Given the description of an element on the screen output the (x, y) to click on. 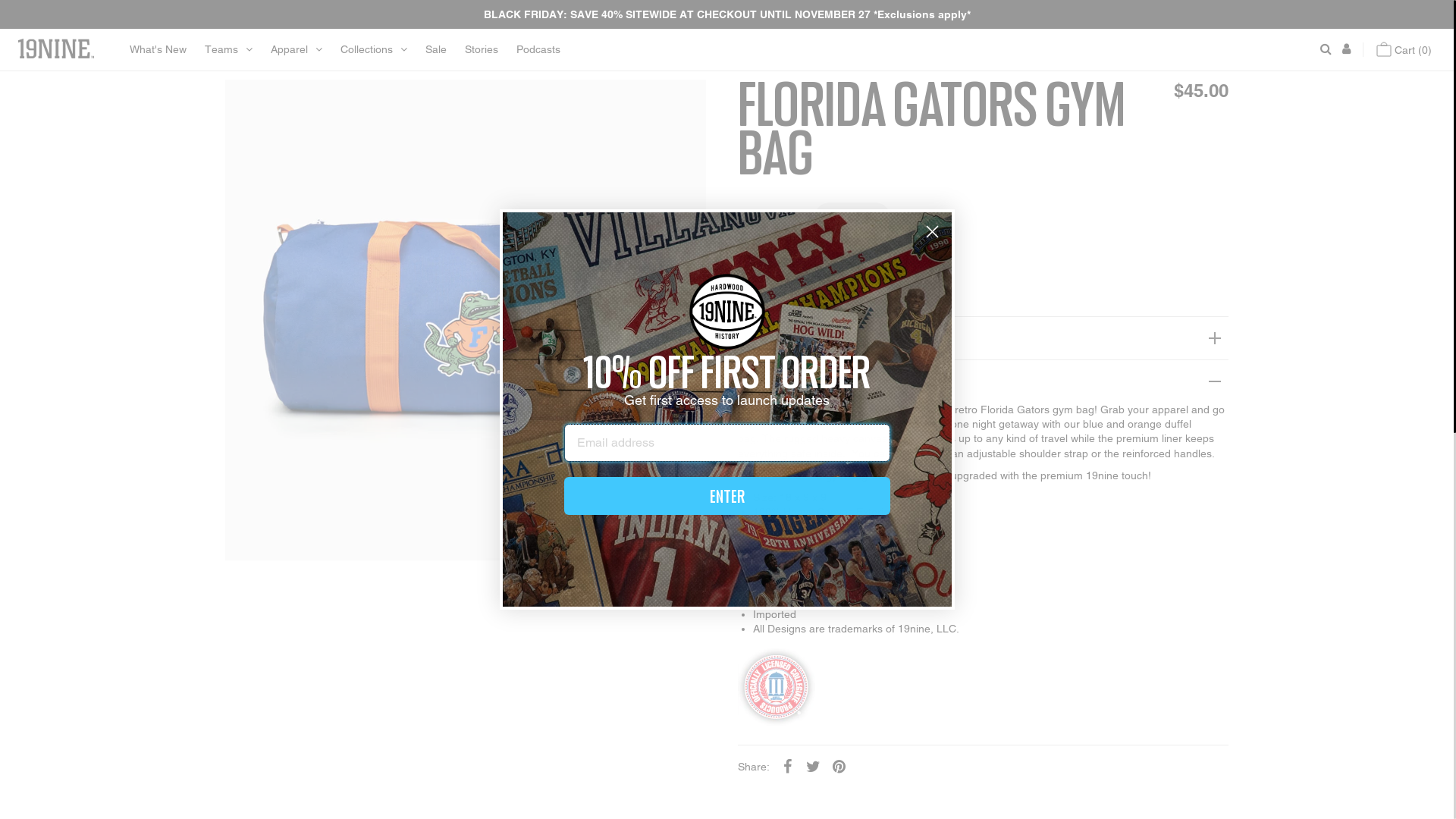
Share on Pinterest Element type: hover (839, 765)
ENTER Element type: text (727, 495)
Podcasts Element type: text (537, 49)
Submit Element type: text (21, 7)
Close dialog 2 Element type: text (932, 231)
Teams Element type: text (228, 49)
Share on Twitter Element type: hover (813, 765)
EXTRA 40% OFF APPLIED AT CHECKOUT Element type: text (983, 337)
Sale Element type: text (435, 49)
Apparel Element type: text (296, 49)
What's New Element type: text (158, 49)
Cart (0) Element type: text (1403, 49)
Stories Element type: text (481, 49)
Hardwood History Element type: text (983, 380)
Share on Facebook Element type: hover (787, 765)
- Element type: text (801, 215)
Collections Element type: text (373, 49)
Add to Cart Element type: text (804, 265)
+ Element type: text (902, 215)
